Given the description of an element on the screen output the (x, y) to click on. 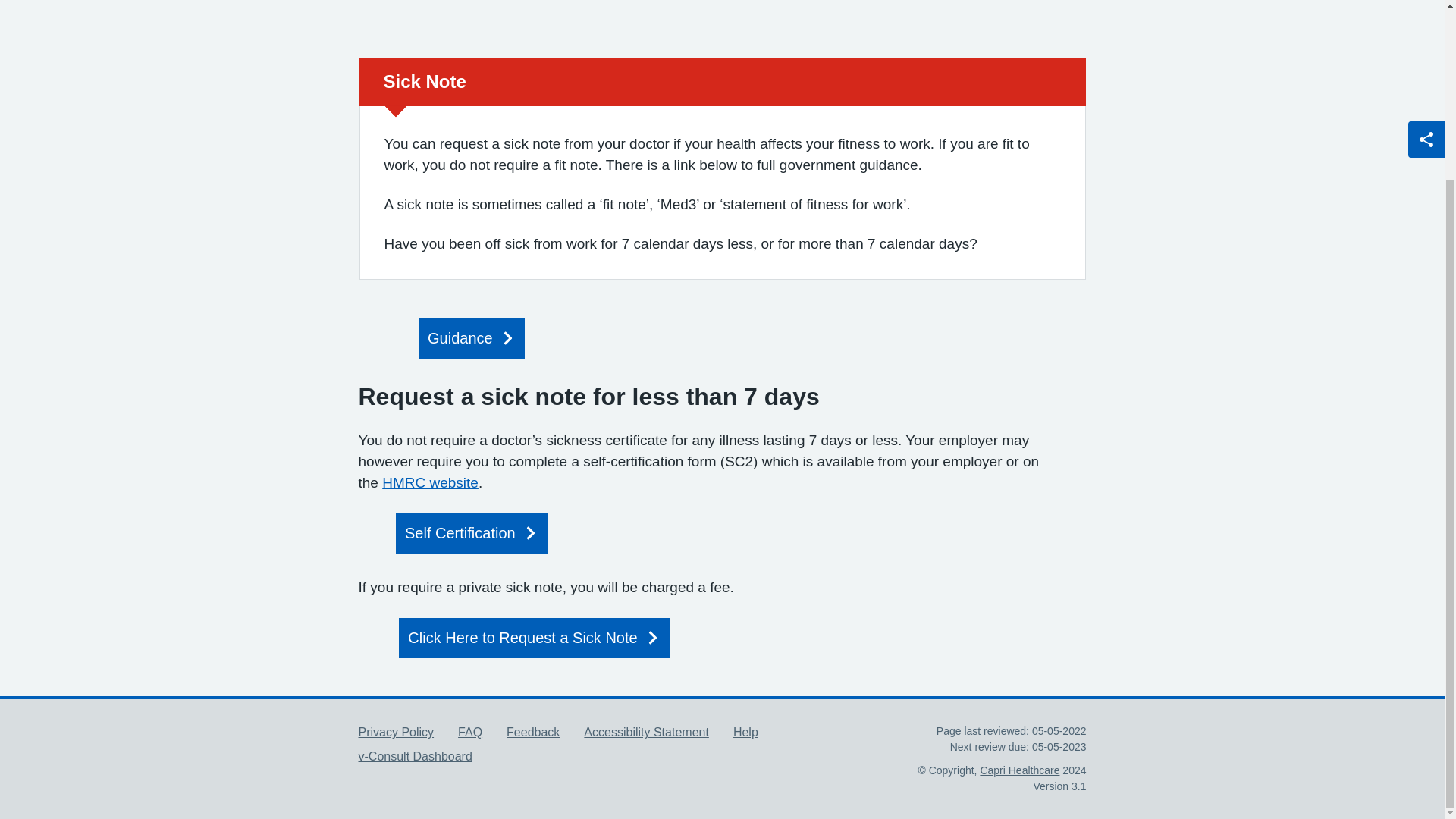
v-Consult Dashboard (414, 756)
Privacy Policy (395, 731)
Feedback (532, 731)
Self Certification (471, 533)
Click Here to Request a Sick Note (533, 638)
Guidance (471, 338)
Accessibility Statement (646, 731)
FAQ (469, 731)
Capri Healthcare (1019, 770)
HMRC website (430, 482)
Help (745, 731)
